Given the description of an element on the screen output the (x, y) to click on. 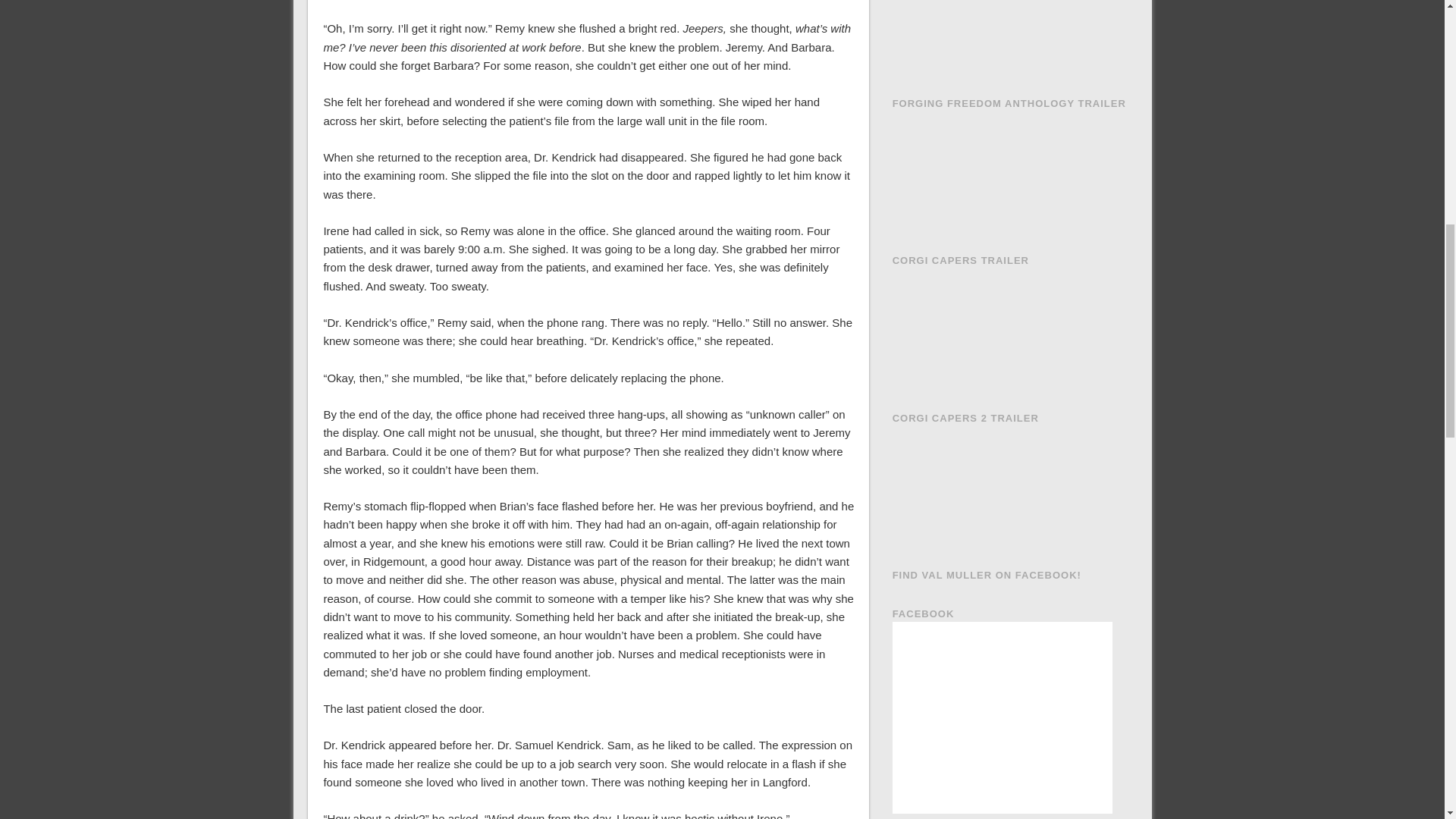
Facebook Members WordPress Plugin (962, 817)
